Given the description of an element on the screen output the (x, y) to click on. 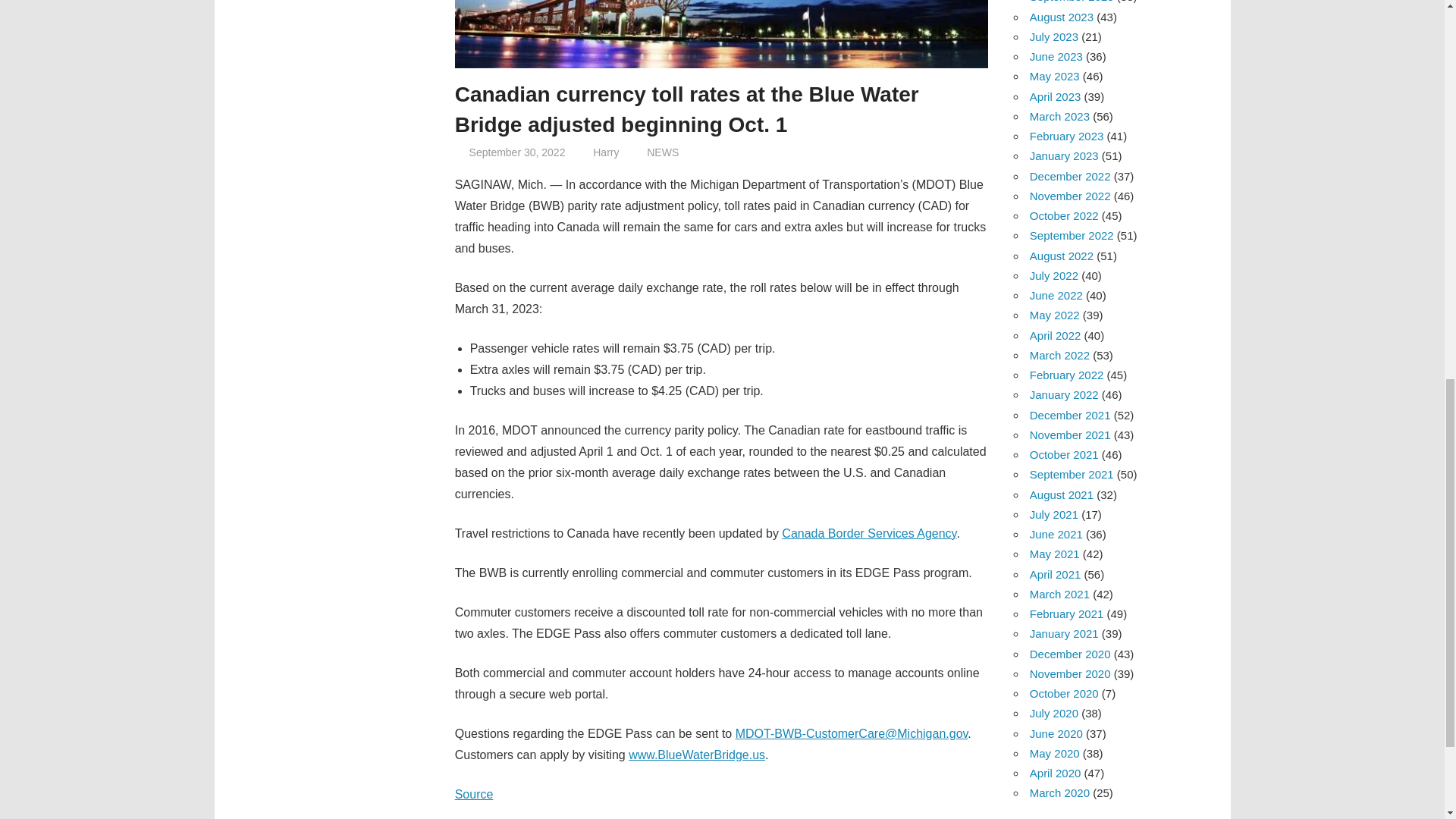
March 2023 (1059, 115)
July 2023 (1053, 36)
February 2023 (1066, 135)
November 2022 (1069, 195)
December 2022 (1069, 175)
September 2023 (1071, 1)
May 2023 (1054, 75)
September 30, 2022 (517, 152)
Canada Border Services Agency (868, 533)
Harry (605, 152)
4:52 pm (517, 152)
Source (473, 793)
View all posts by Harry (605, 152)
January 2023 (1064, 155)
August 2023 (1061, 16)
